Given the description of an element on the screen output the (x, y) to click on. 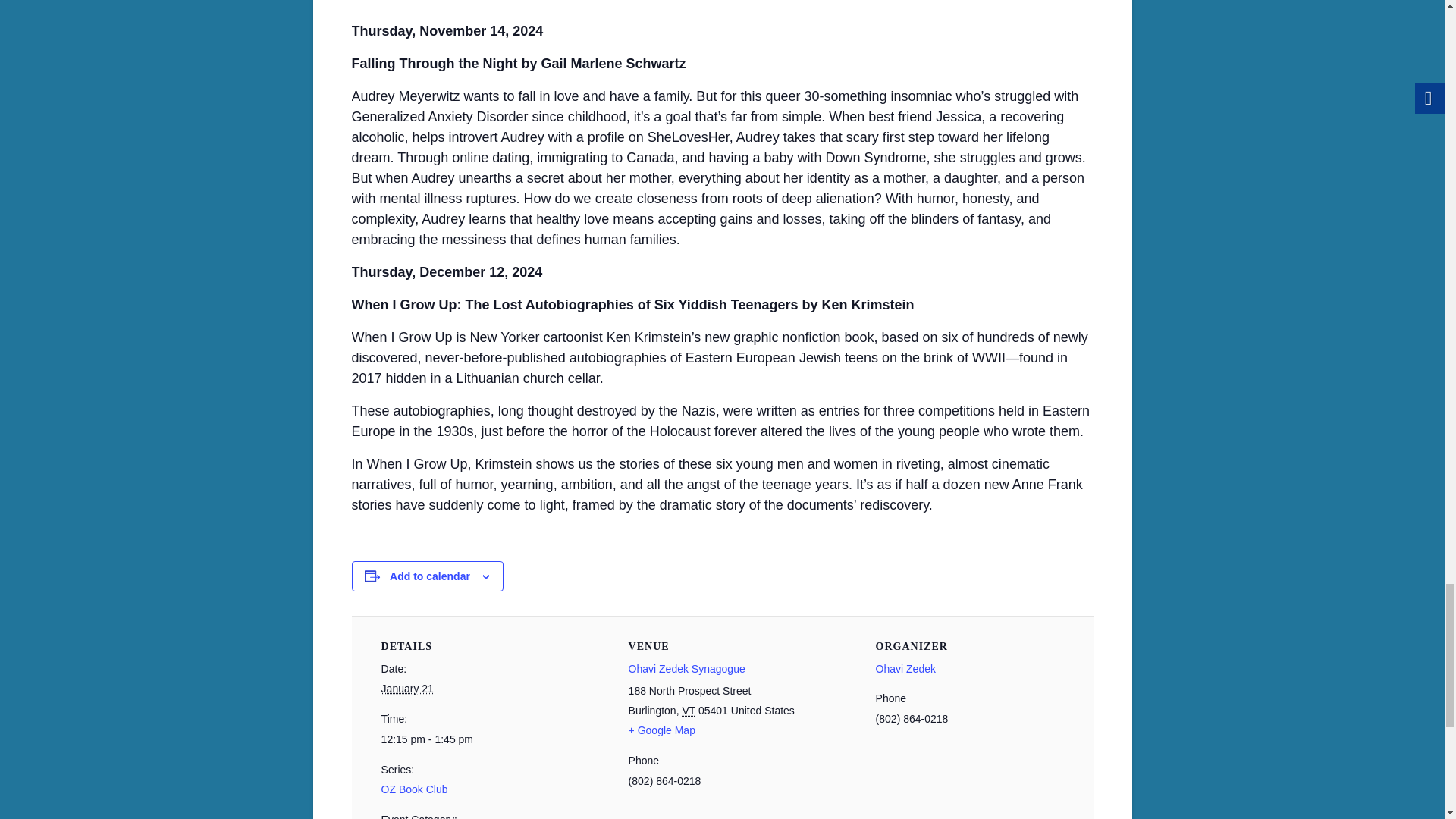
2024-01-21 (407, 688)
2024-01-21 (466, 740)
Vermont (688, 710)
OZ Book Club (414, 788)
Click to view a Google Map (661, 729)
Ohavi Zedek (906, 668)
